Given the description of an element on the screen output the (x, y) to click on. 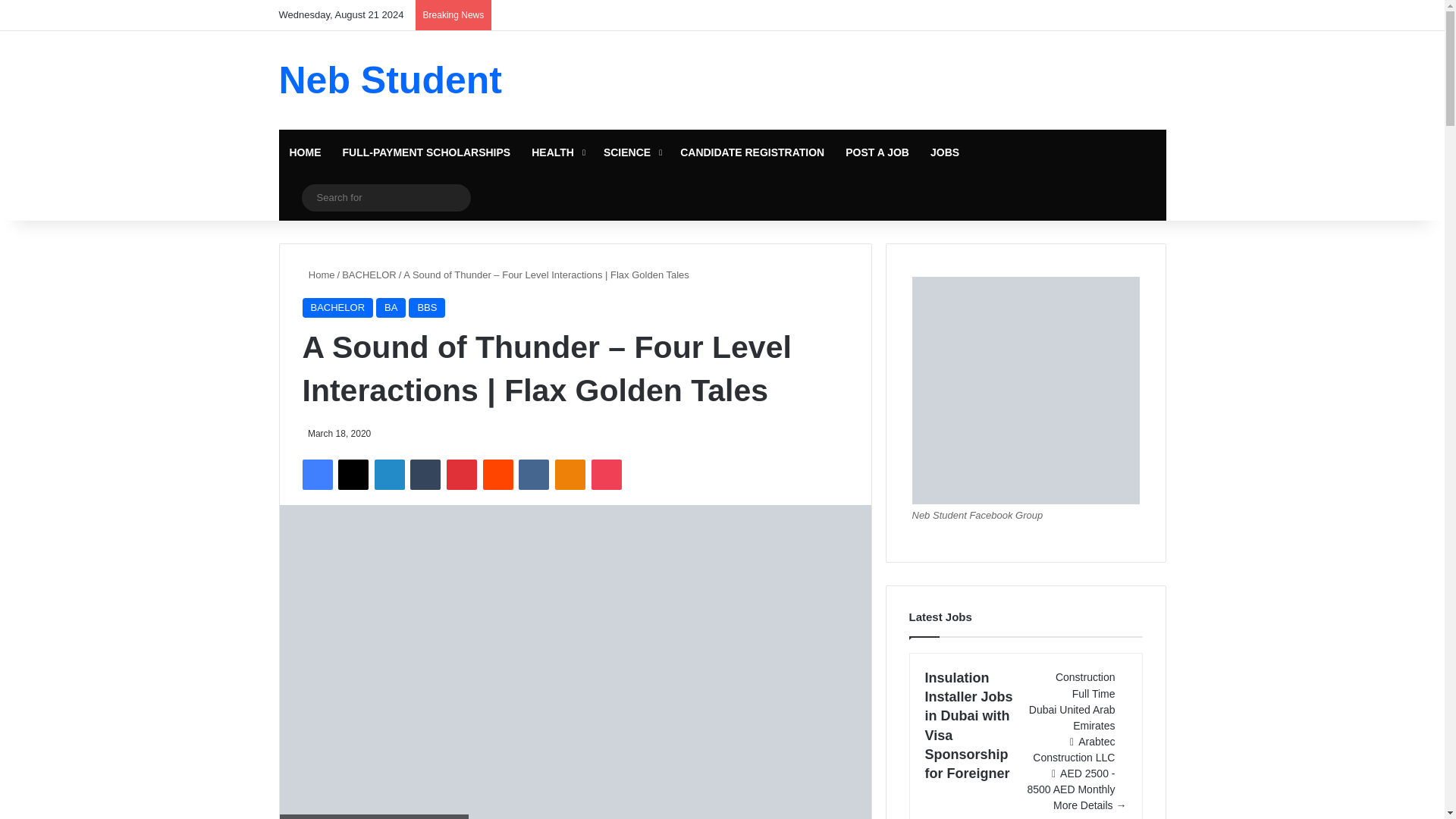
Search for (385, 197)
Neb Student (390, 80)
FULL-PAYMENT SCHOLARSHIPS (426, 152)
Pinterest (461, 474)
CANDIDATE REGISTRATION (751, 152)
X (352, 474)
LinkedIn (389, 474)
SCIENCE (630, 152)
HOME (305, 152)
JOBS (944, 152)
